Given the description of an element on the screen output the (x, y) to click on. 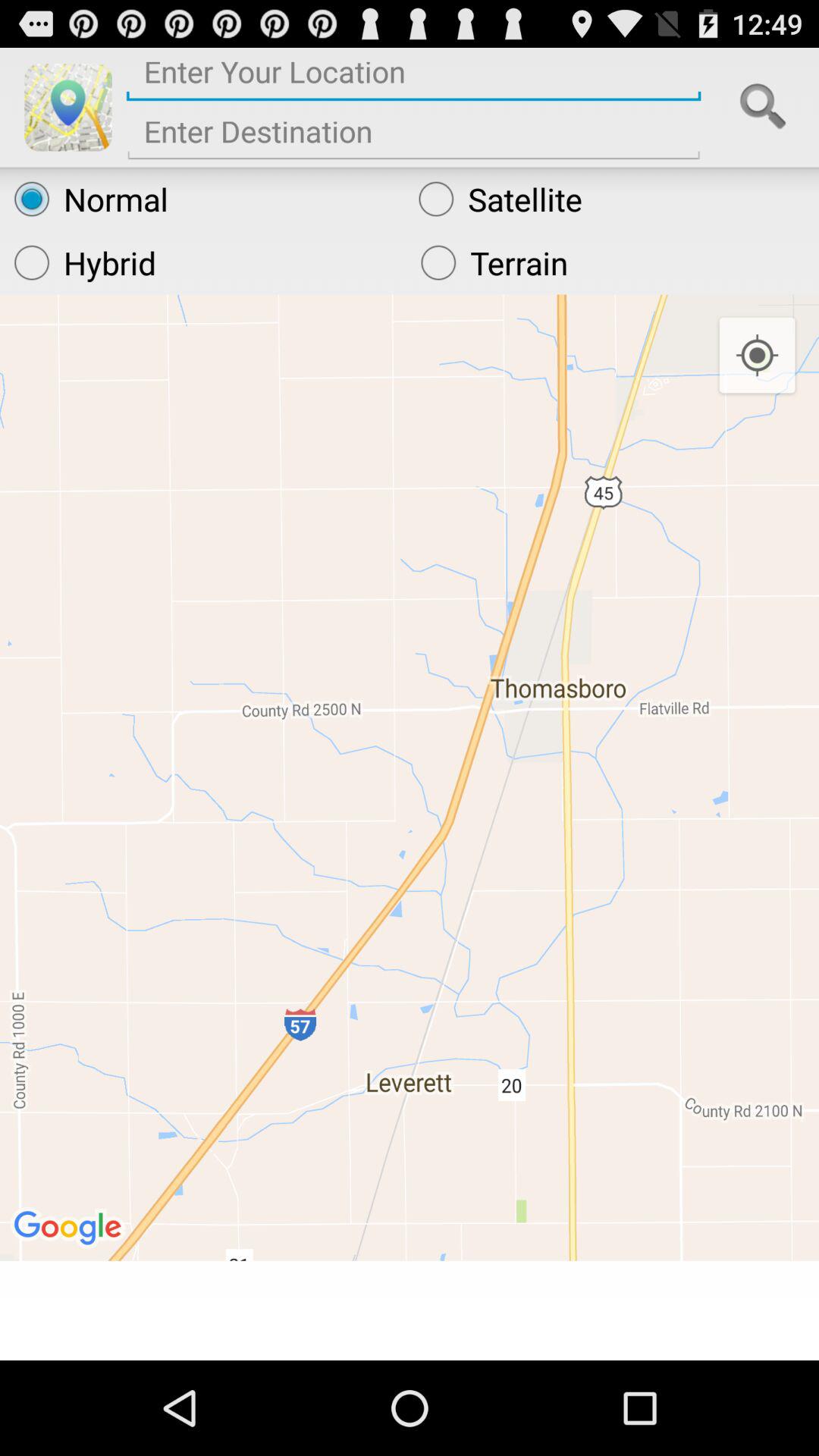
open the radio button next to normal (611, 198)
